Given the description of an element on the screen output the (x, y) to click on. 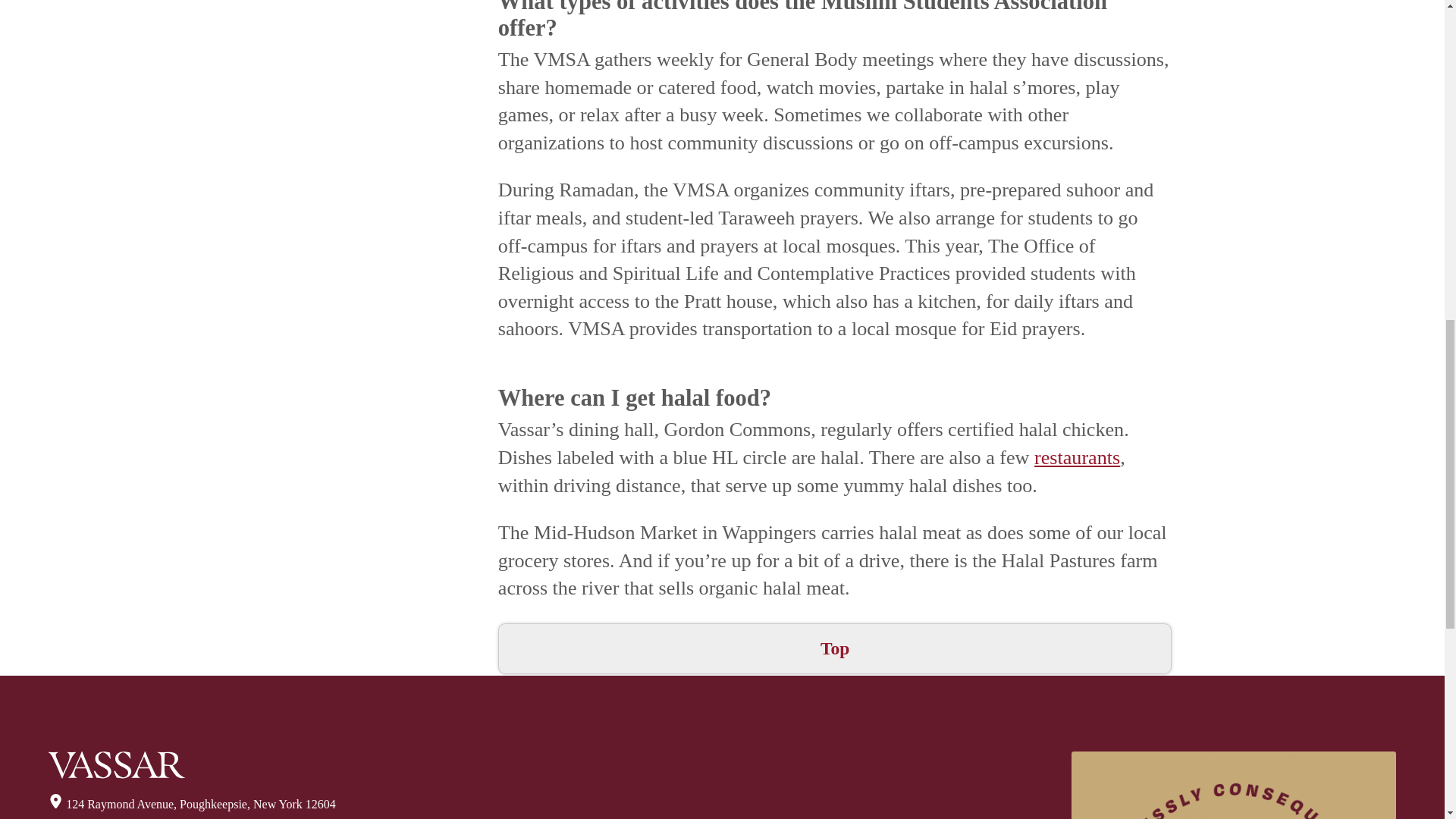
restaurants (1076, 457)
Vassar (116, 764)
